Given the description of an element on the screen output the (x, y) to click on. 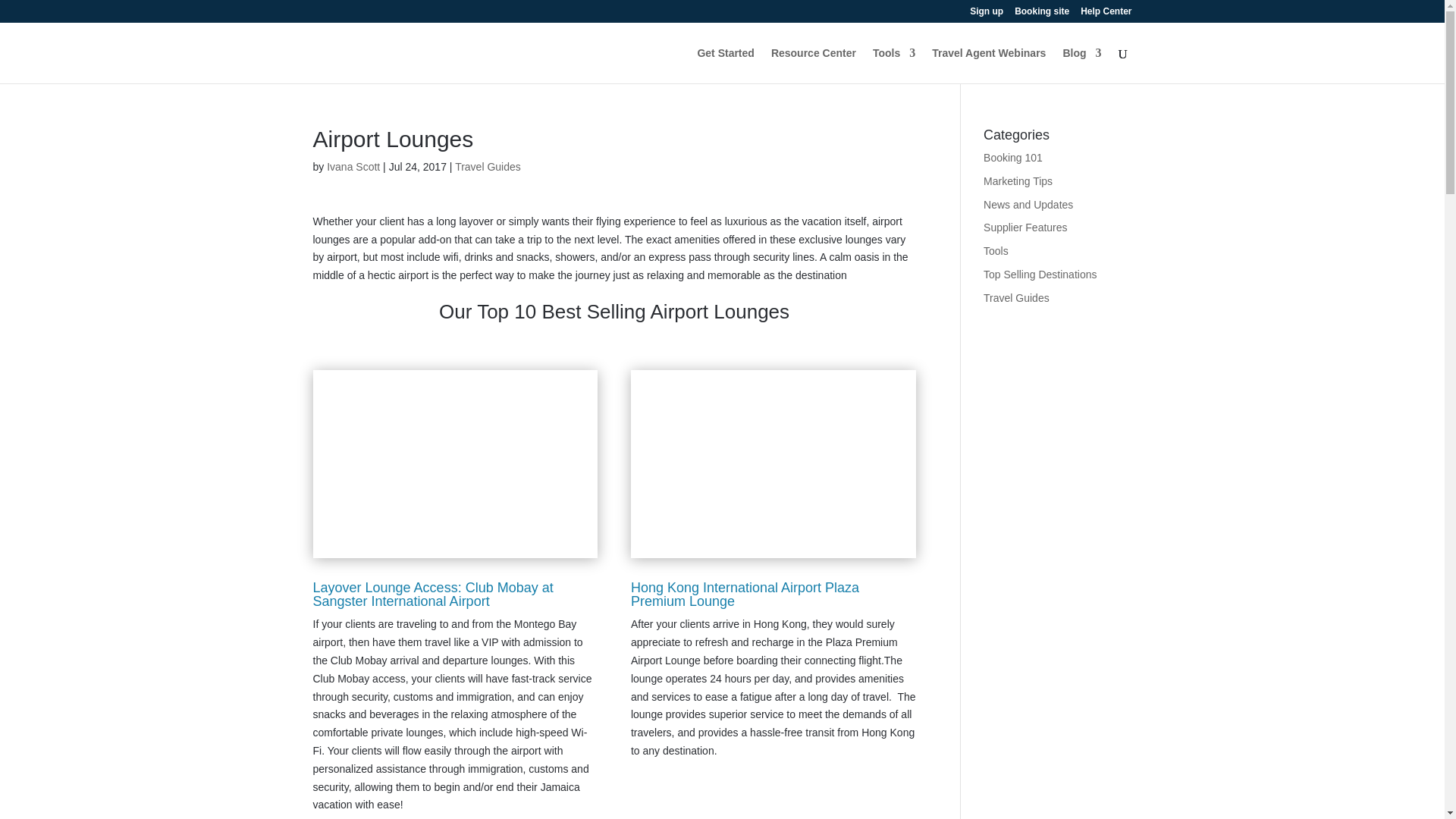
Hong Kong International Airport Plaza Premium Lounge (744, 594)
Sign up (986, 14)
Resource Center (813, 65)
Get Started (725, 65)
Ivana Scott (353, 166)
Blog (1081, 65)
Travel Agent Webinars (988, 65)
Tools (893, 65)
Booking site (1041, 14)
